Given the description of an element on the screen output the (x, y) to click on. 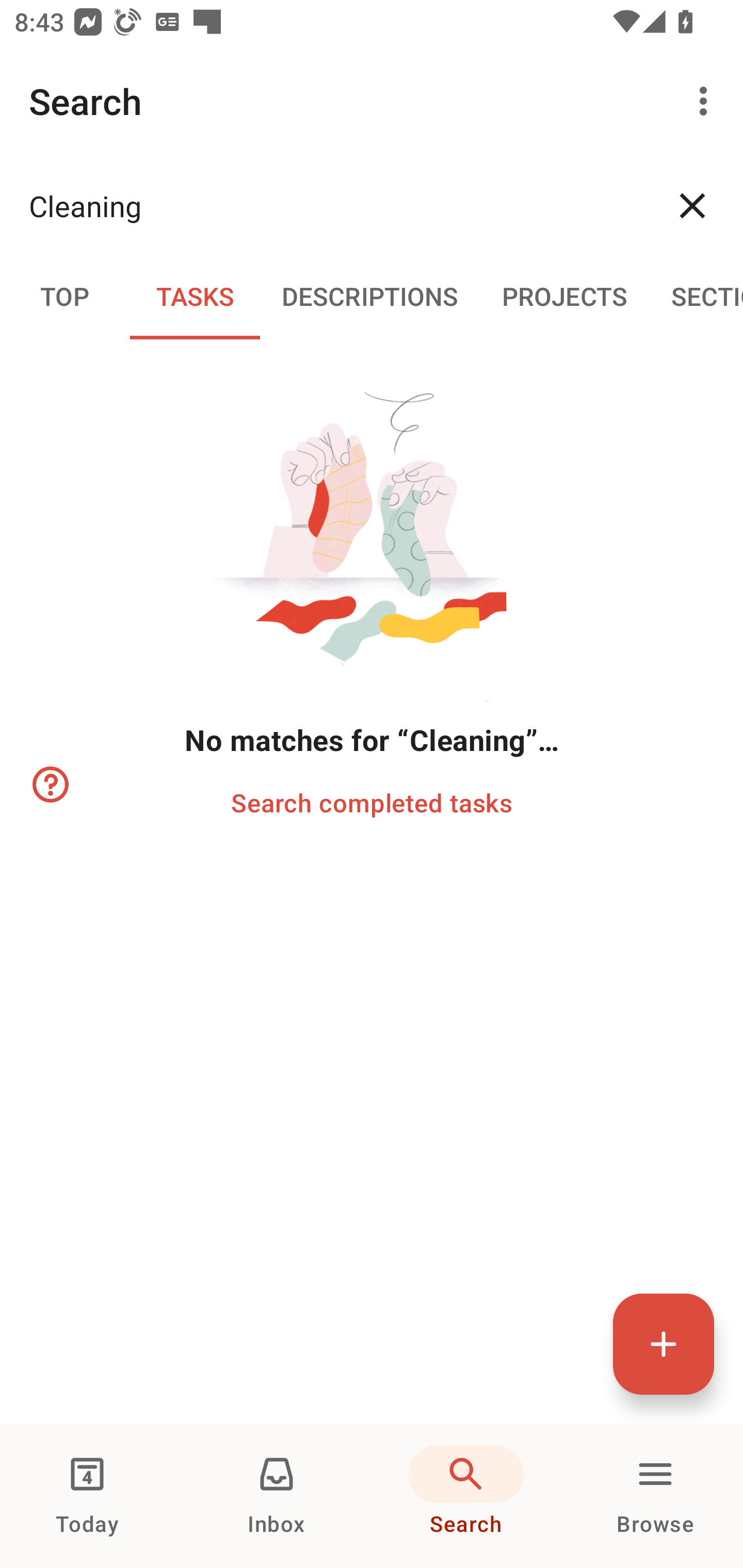
Search More options (371, 100)
More options (706, 101)
Cleaning (335, 205)
Clear (692, 205)
Top TOP (65, 295)
Descriptions DESCRIPTIONS (370, 295)
Projects PROJECTS (564, 295)
Learn how to refine your search (48, 784)
Search completed tasks (371, 801)
Quick add (663, 1343)
Today (87, 1495)
Inbox (276, 1495)
Browse (655, 1495)
